Given the description of an element on the screen output the (x, y) to click on. 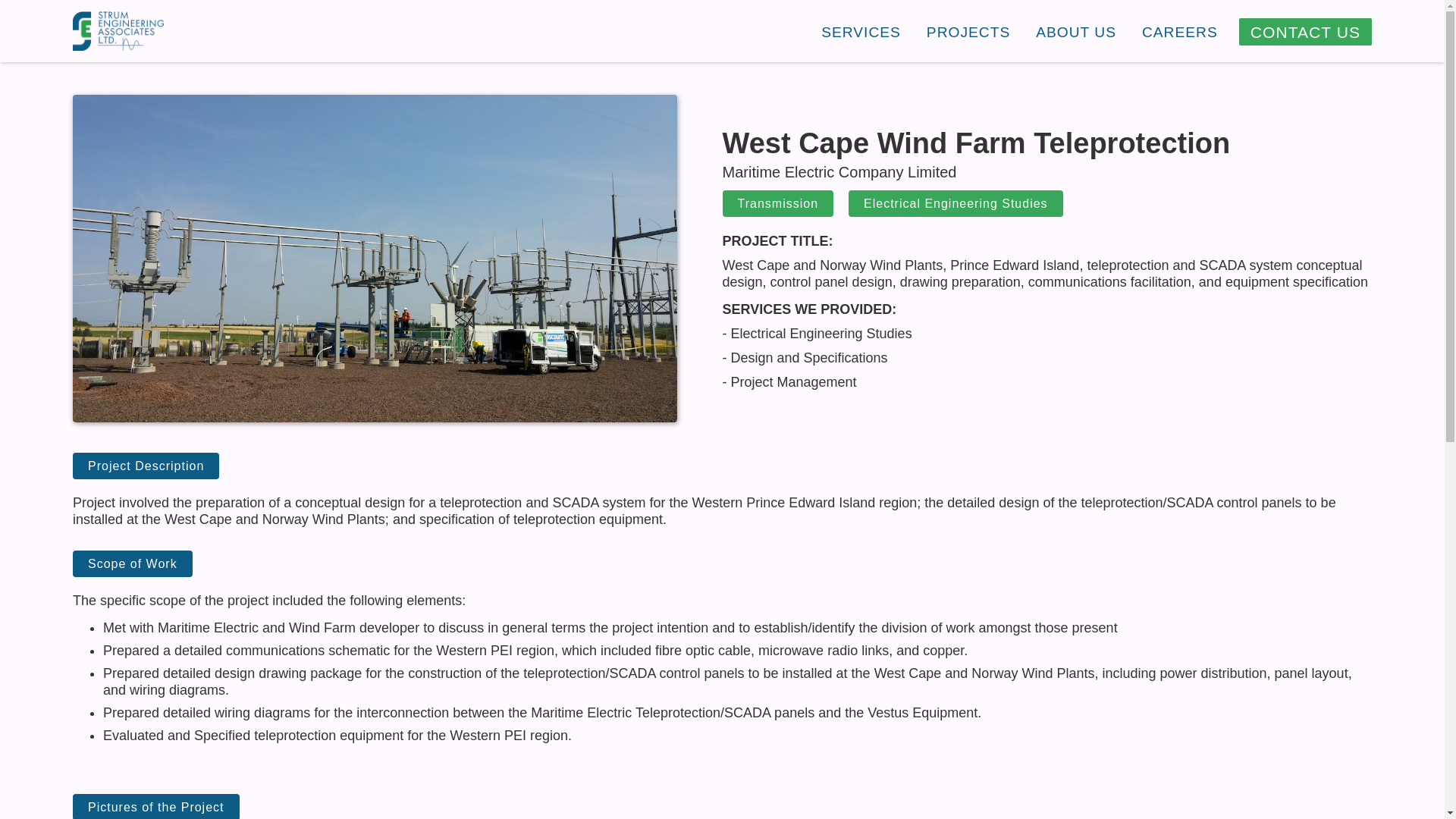
PROJECTS (967, 32)
CAREERS (1180, 32)
CONTACT US (1305, 31)
ABOUT US (1075, 32)
SERVICES (860, 32)
